Given the description of an element on the screen output the (x, y) to click on. 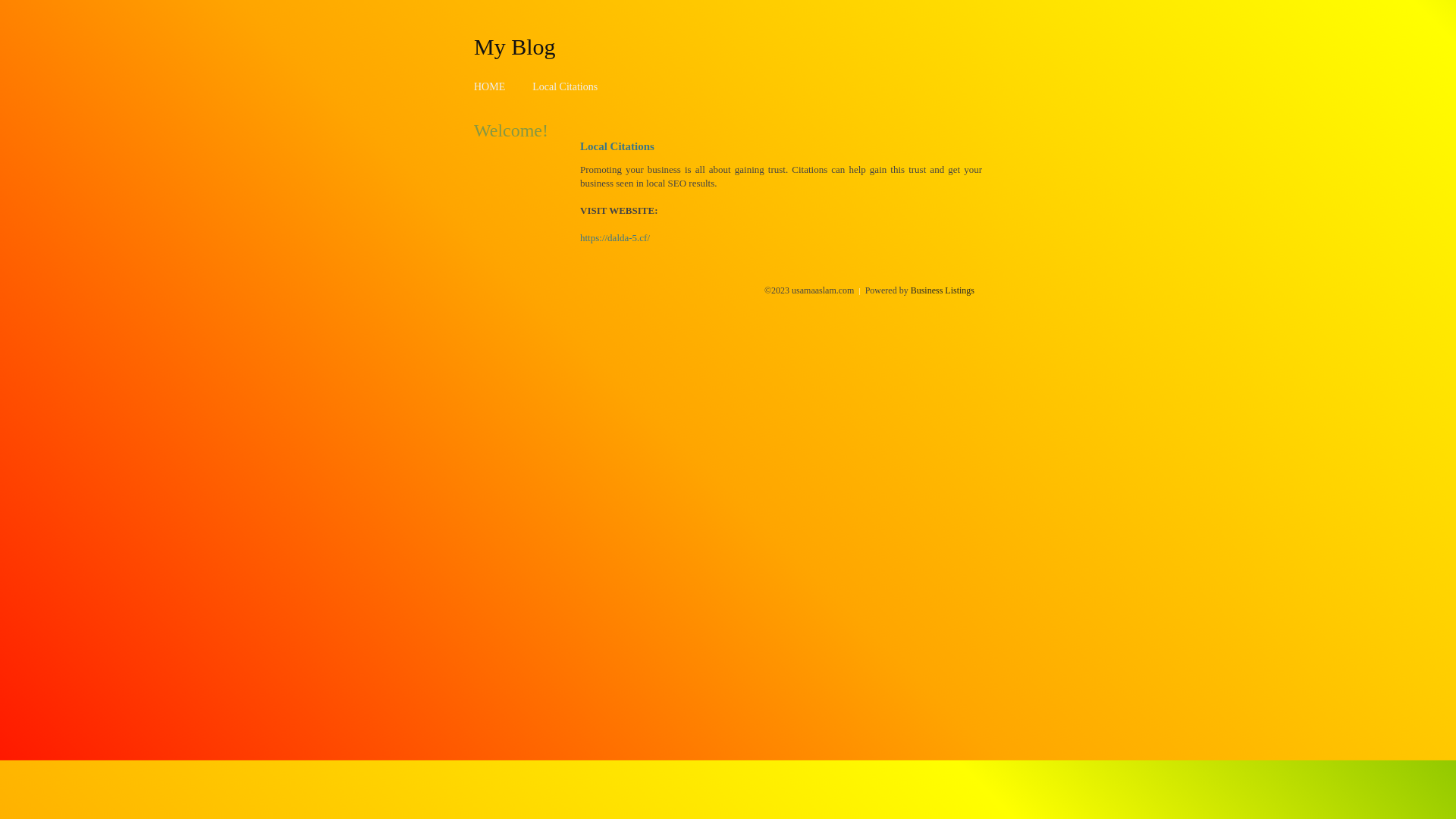
Local Citations Element type: text (564, 86)
HOME Element type: text (489, 86)
https://dalda-5.cf/ Element type: text (614, 237)
Business Listings Element type: text (942, 290)
My Blog Element type: text (514, 46)
